Given the description of an element on the screen output the (x, y) to click on. 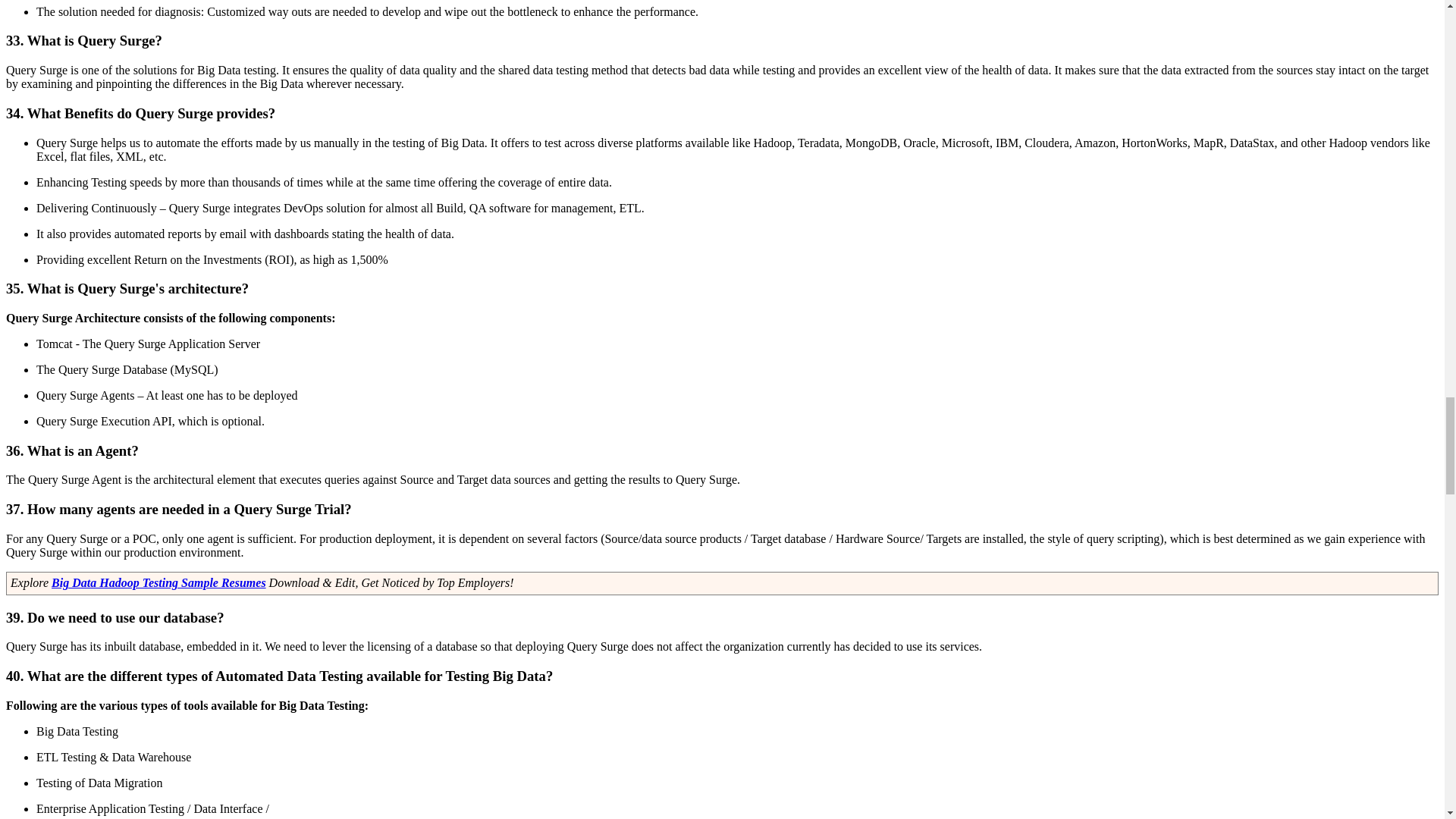
Big Data Hadoop Testing Sample Resumes (158, 582)
Download Big Data Hadoop Testing Sample Resumes (158, 582)
